Given the description of an element on the screen output the (x, y) to click on. 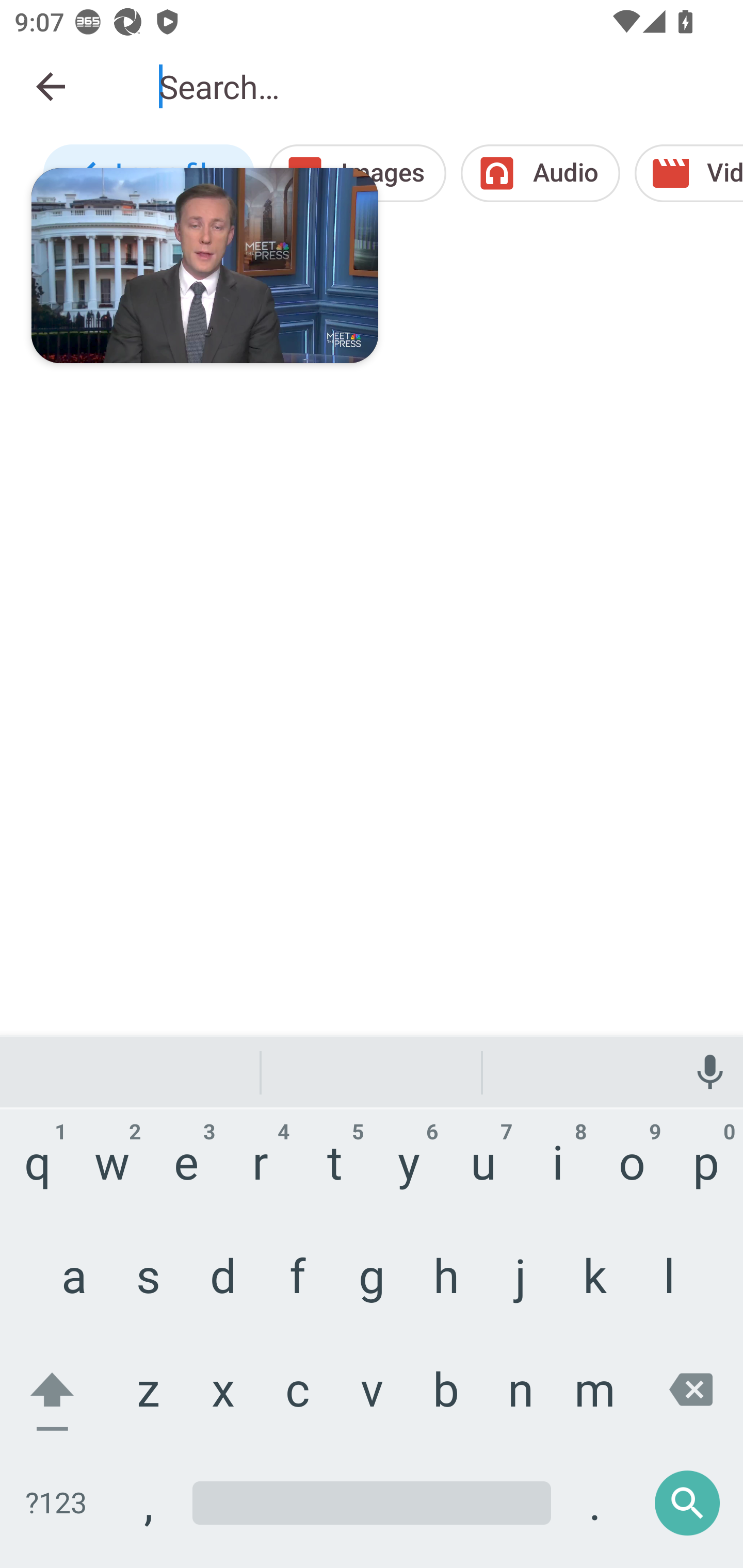
Back (50, 86)
Search… (436, 86)
Audio (540, 173)
Videos (688, 173)
